Given the description of an element on the screen output the (x, y) to click on. 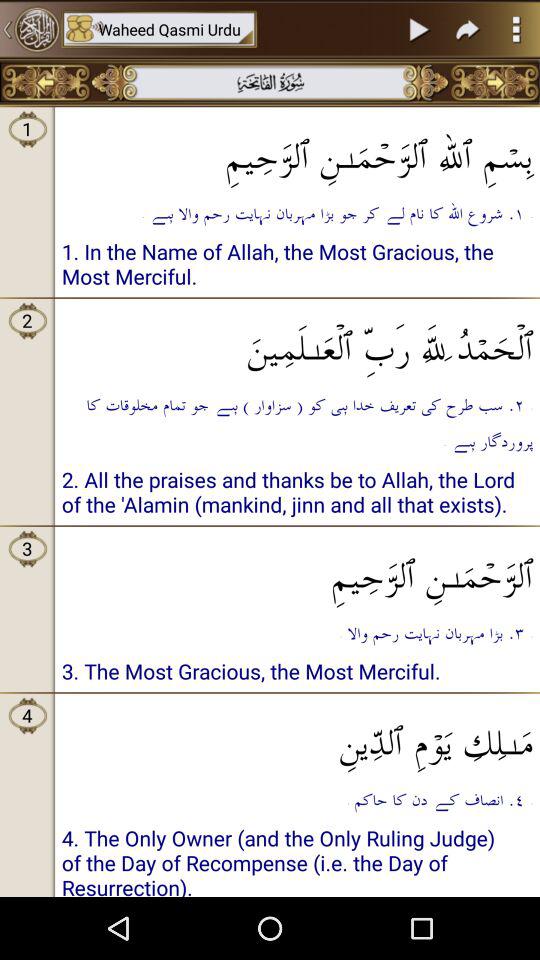
forward (468, 29)
